Given the description of an element on the screen output the (x, y) to click on. 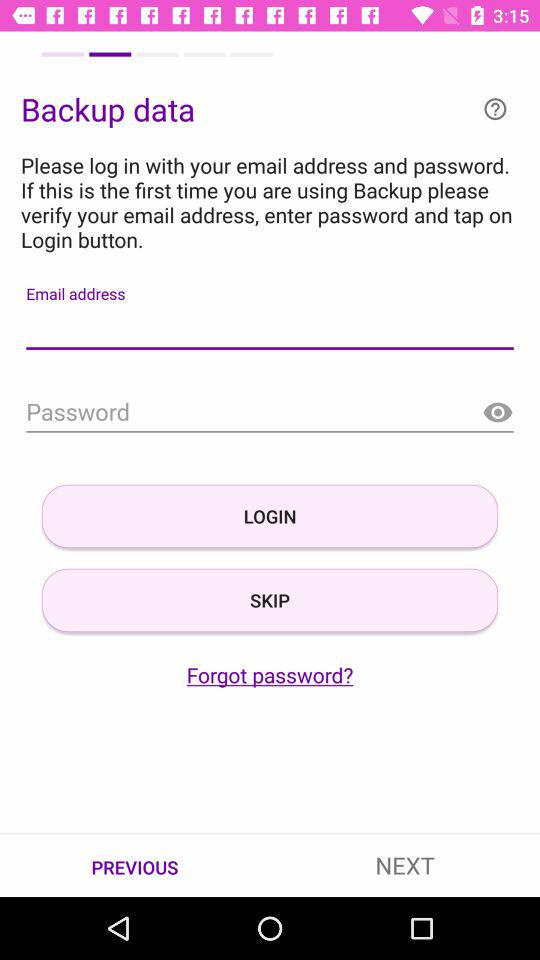
enter email address (270, 328)
